Given the description of an element on the screen output the (x, y) to click on. 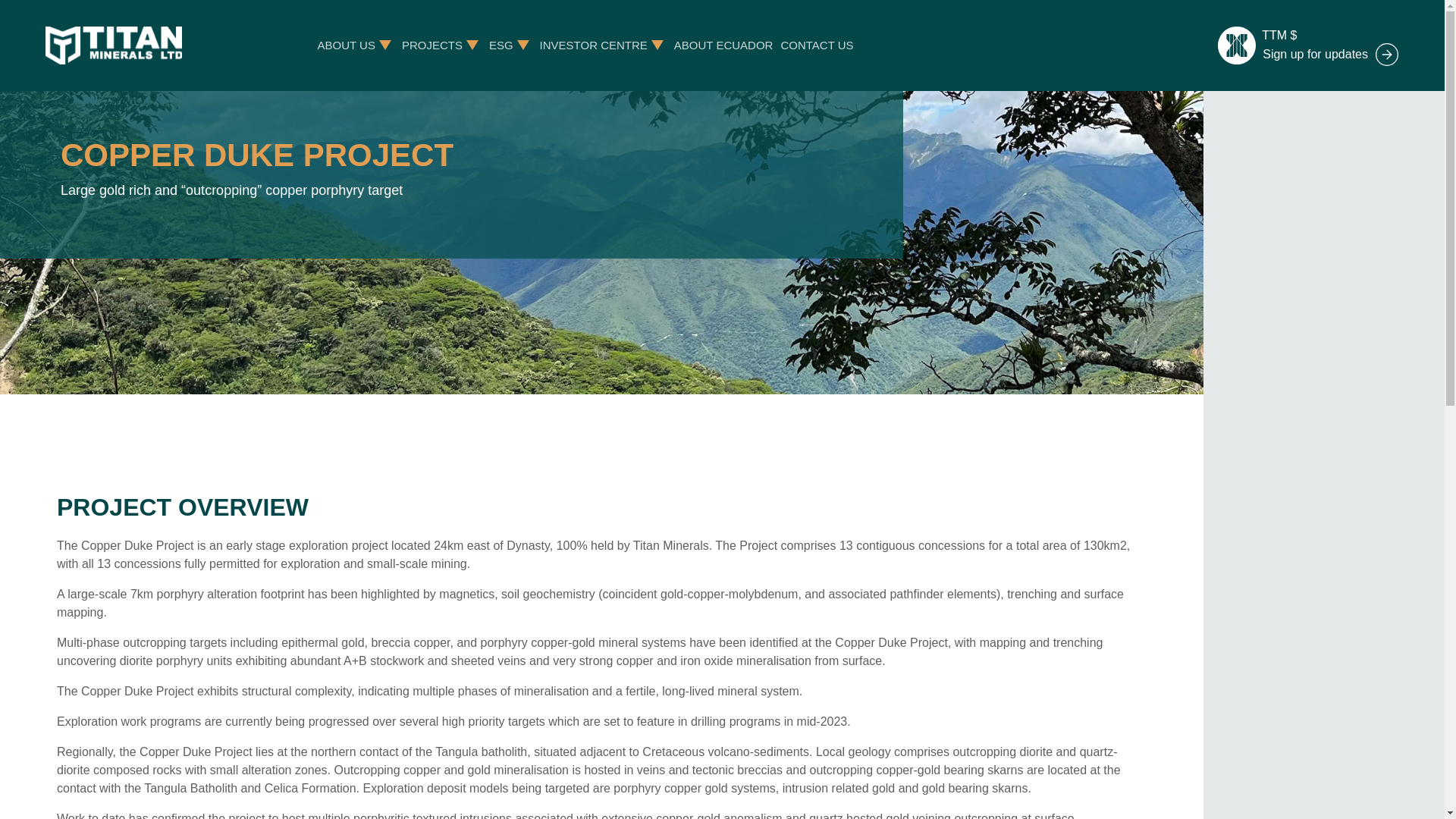
Sign up for updates (1330, 54)
INVESTOR CENTRE (593, 44)
ESG (501, 44)
PROJECTS (432, 44)
CONTACT US (816, 44)
ABOUT US (345, 44)
ABOUT ECUADOR (723, 44)
